Given the description of an element on the screen output the (x, y) to click on. 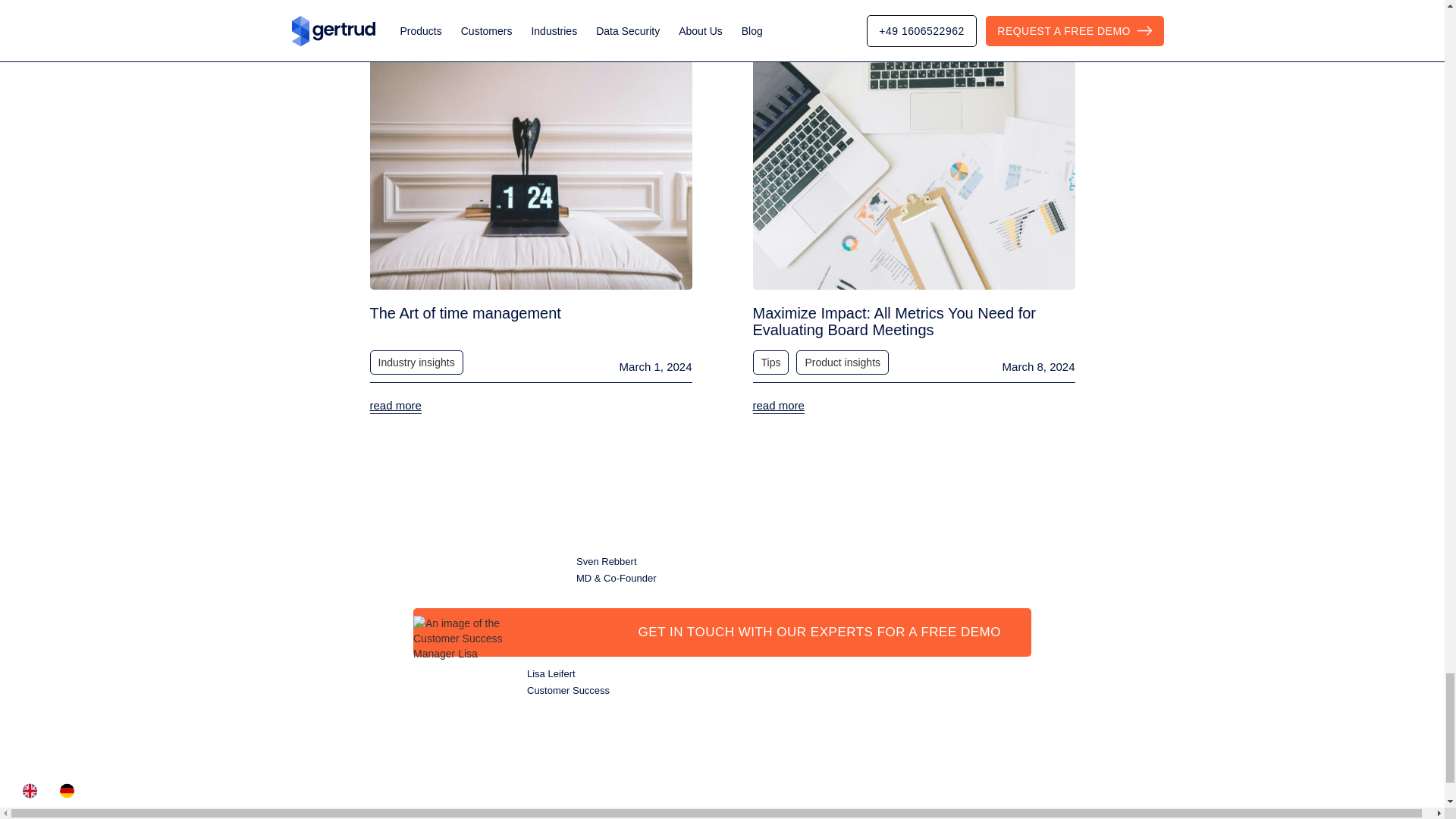
GET IN TOUCH WITH OUR EXPERTS FOR A FREE DEMO (721, 632)
read more (395, 406)
read more (777, 406)
